Given the description of an element on the screen output the (x, y) to click on. 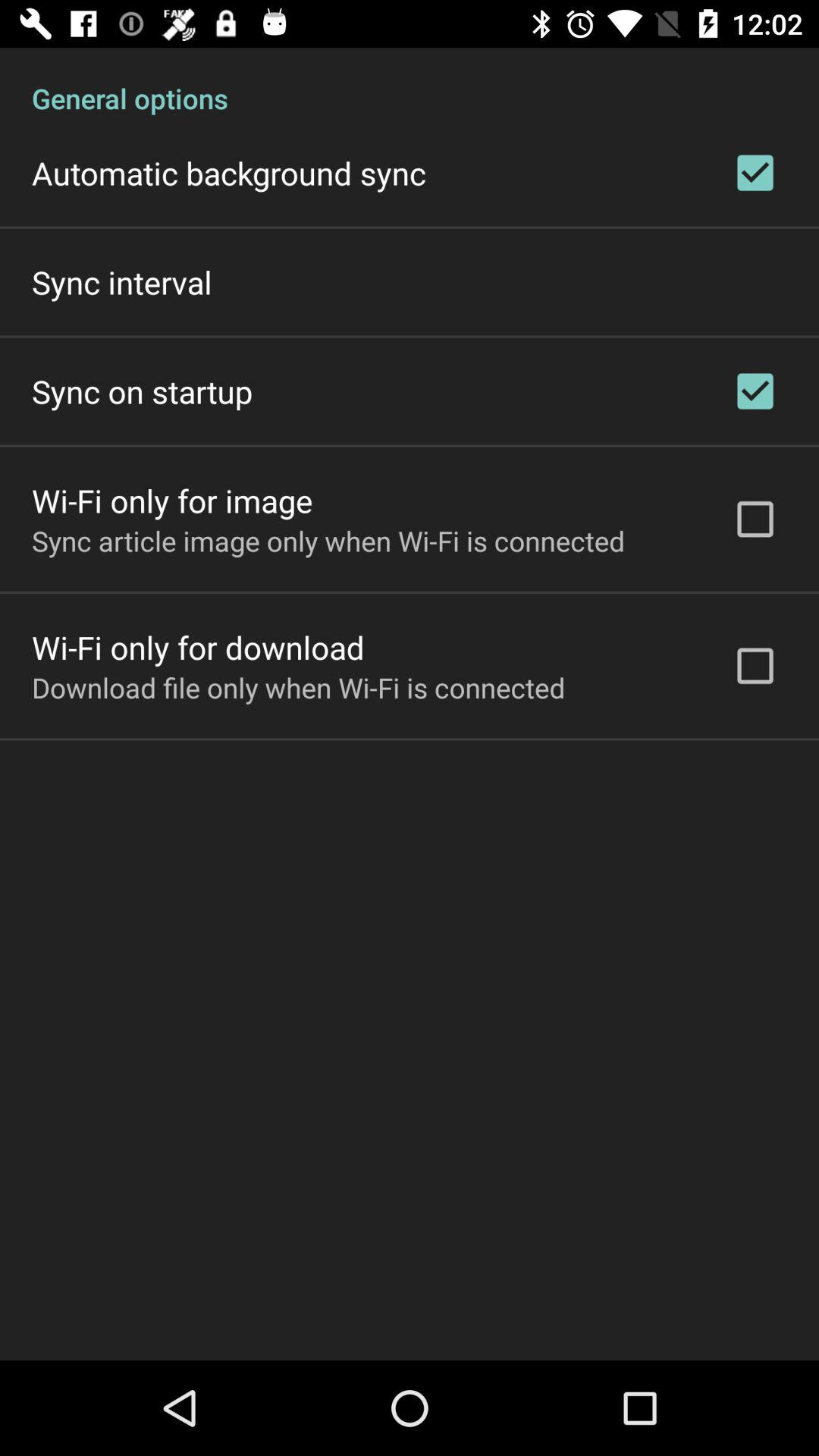
scroll to sync interval (121, 281)
